Given the description of an element on the screen output the (x, y) to click on. 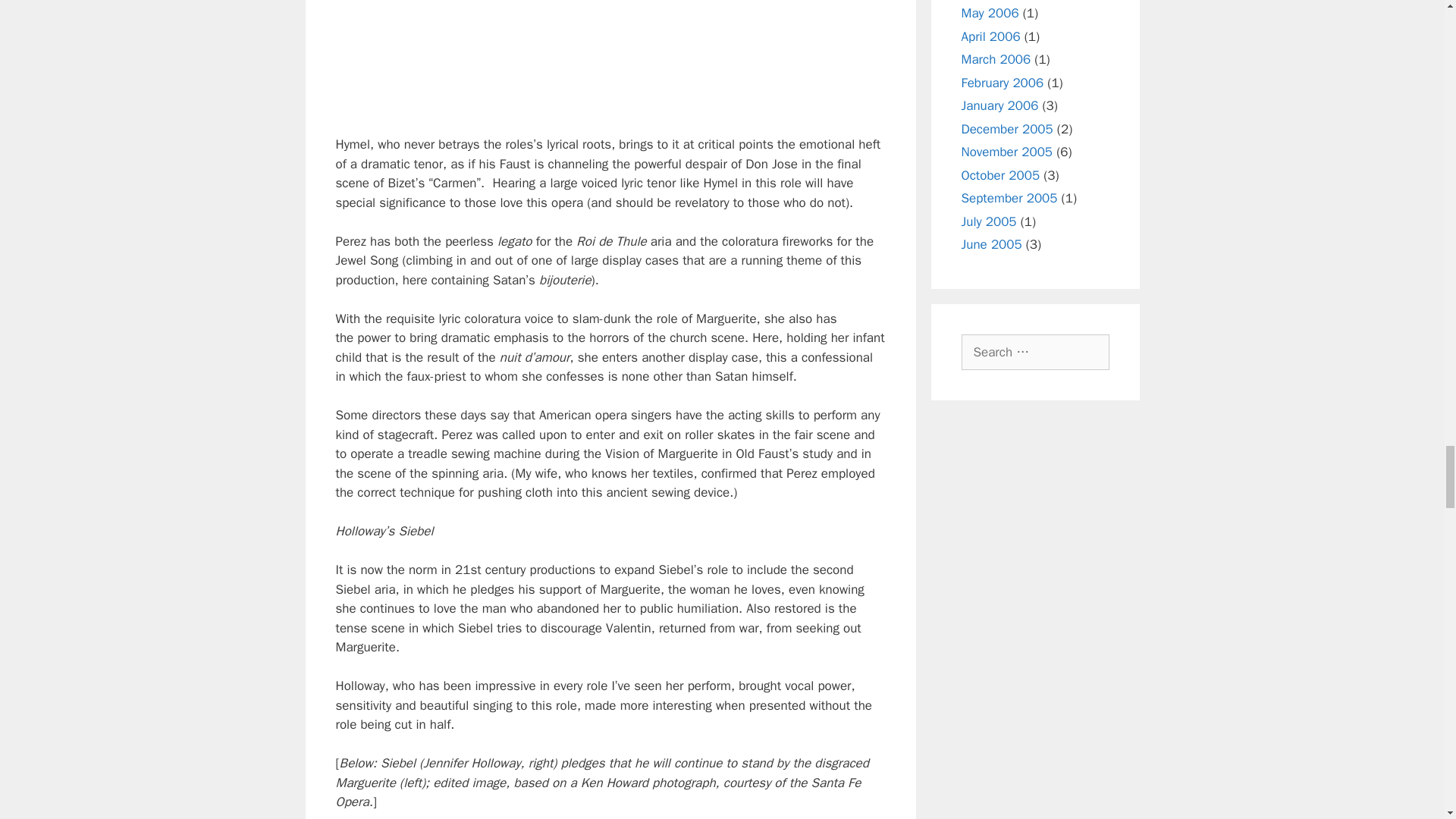
HYMEL-PEREZ (609, 58)
